Given the description of an element on the screen output the (x, y) to click on. 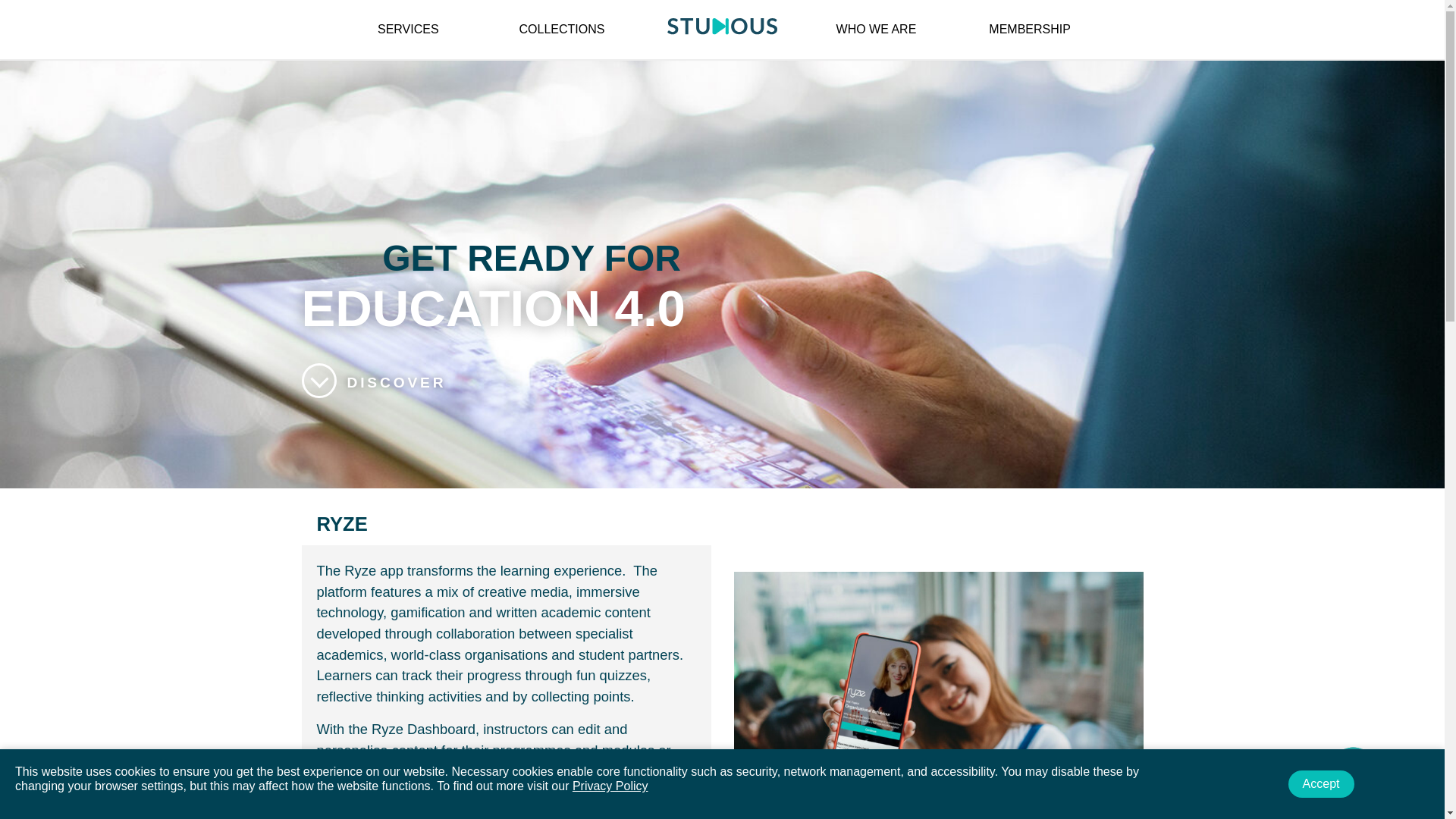
MEMBERSHIP (1029, 29)
DISCOVER (373, 381)
WHO WE ARE (876, 29)
SERVICES (408, 29)
DISCOVER (373, 381)
Accept (1321, 783)
COLLECTIONS (561, 29)
Privacy Policy (609, 785)
